Given the description of an element on the screen output the (x, y) to click on. 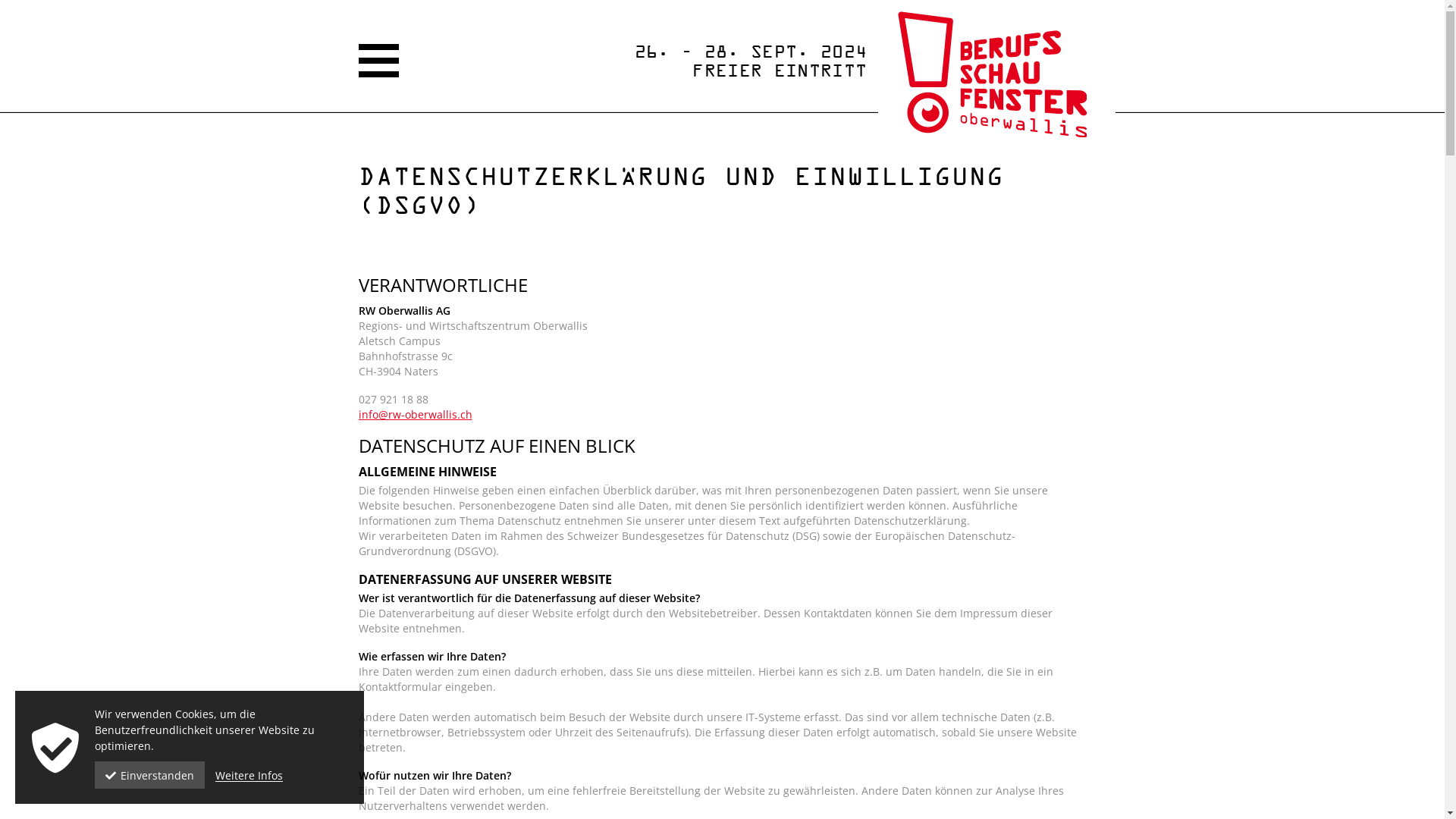
Weitere Infos Element type: text (248, 775)
Einverstanden Element type: text (149, 774)
info@rw-oberwallis.ch Element type: text (414, 414)
